Given the description of an element on the screen output the (x, y) to click on. 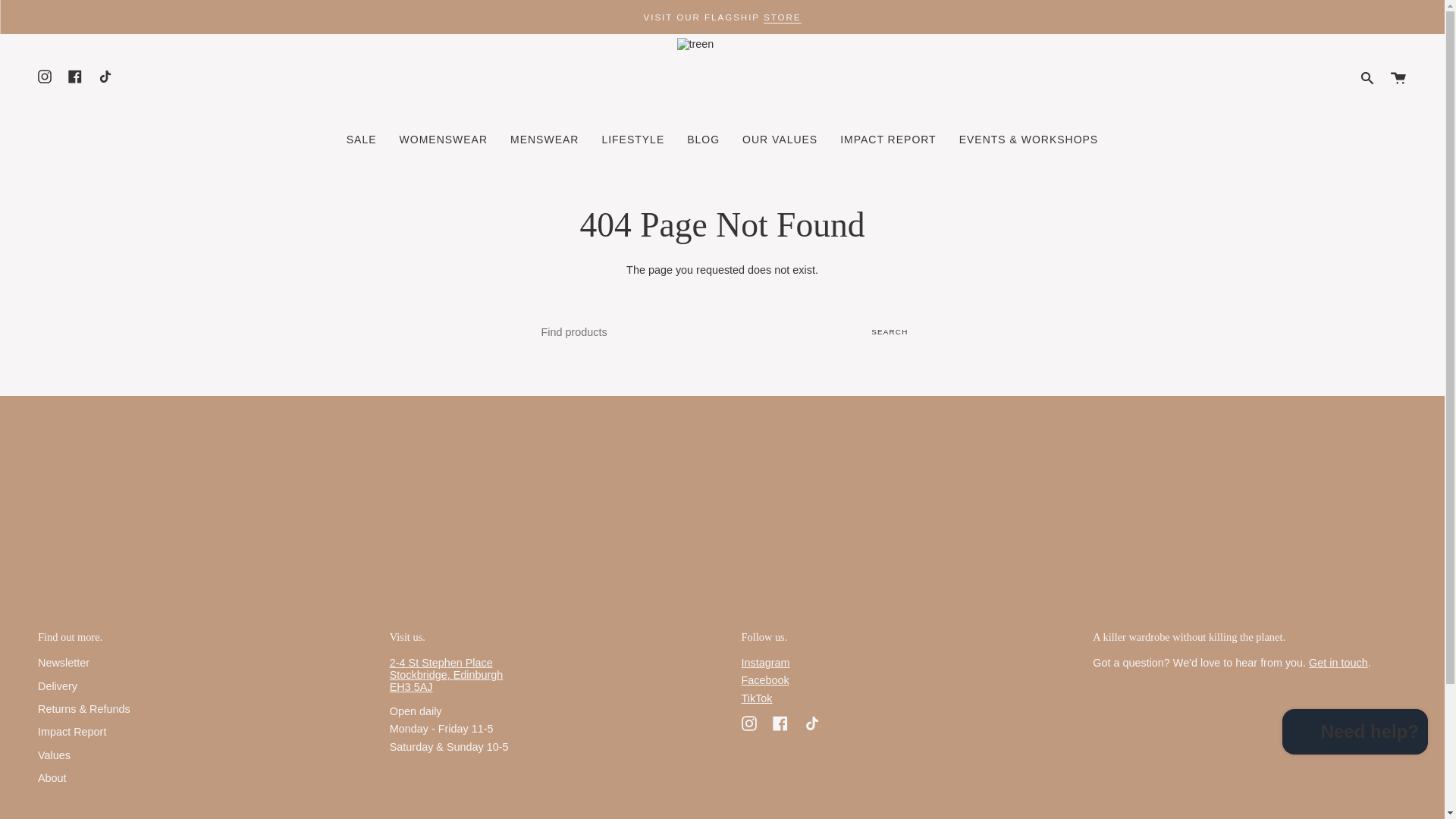
treen on TikTok (812, 721)
treen on Instagram (749, 721)
Contact (1338, 662)
SALE (361, 139)
WOMENSWEAR (443, 139)
treen on Facebook (780, 721)
STORE (781, 16)
